Given the description of an element on the screen output the (x, y) to click on. 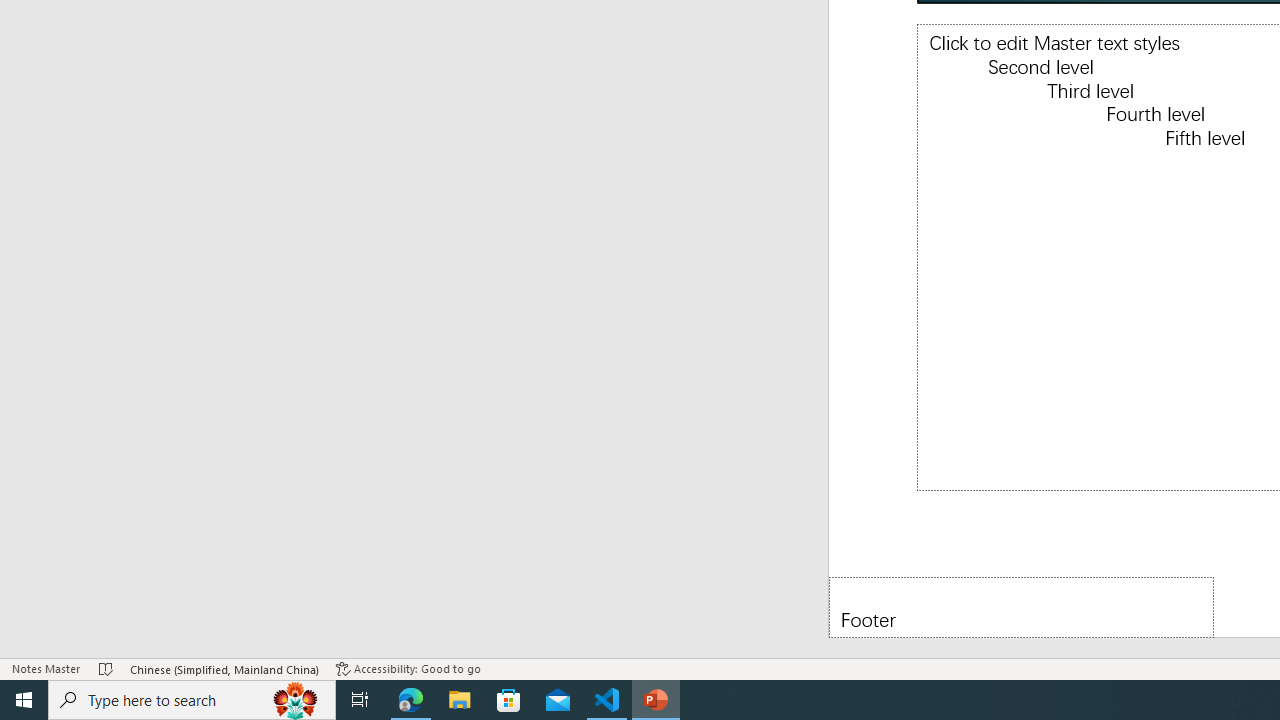
Footer (1021, 606)
Accessibility Checker Accessibility: Good to go (407, 668)
